Given the description of an element on the screen output the (x, y) to click on. 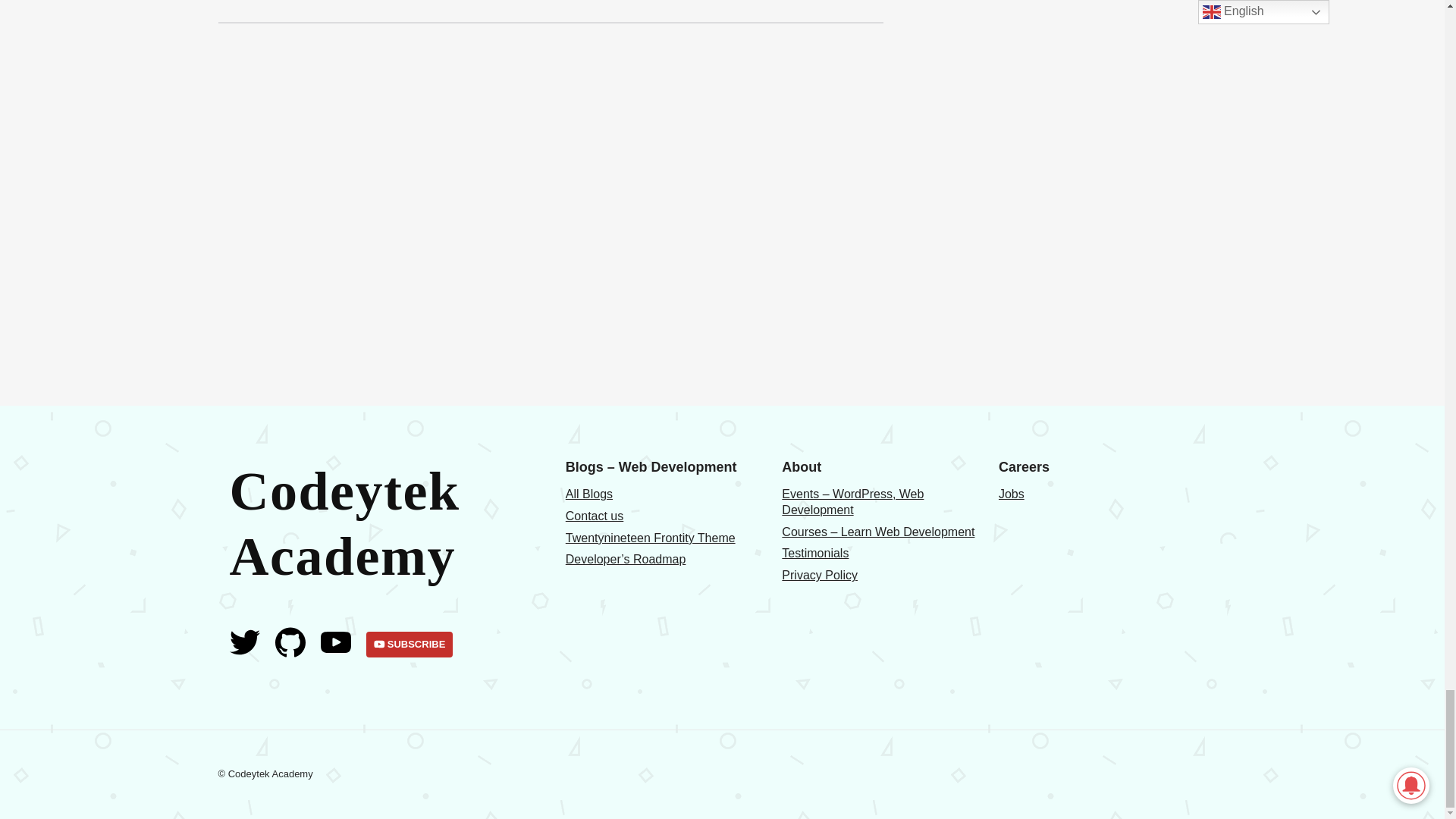
All Blogs (589, 494)
About (801, 466)
SUBSCRIBE (412, 643)
Contact us (594, 516)
Twentynineteen Frontity Theme (650, 538)
SUBSCRIBE (408, 643)
